Given the description of an element on the screen output the (x, y) to click on. 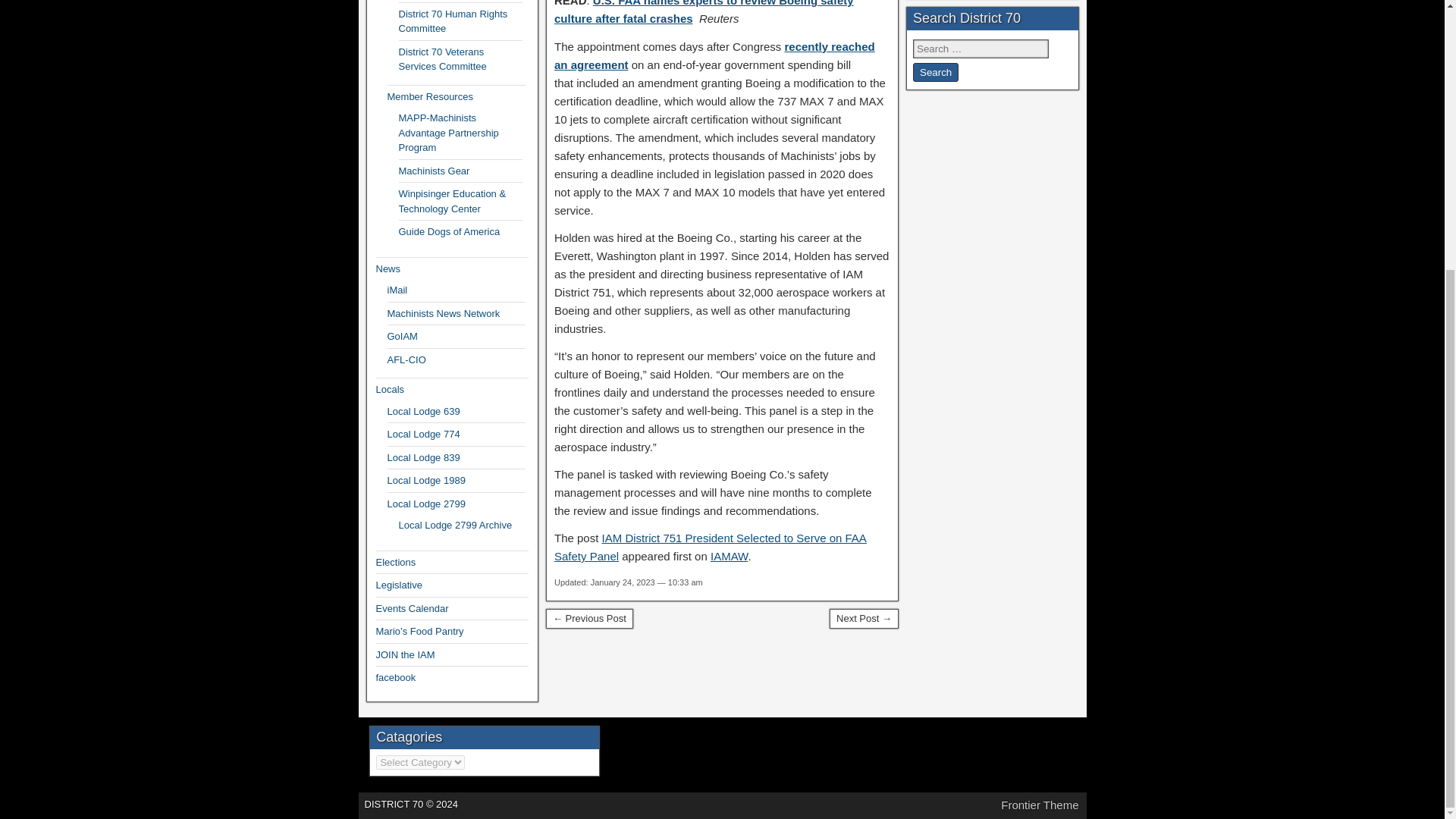
Search (935, 72)
Search (935, 72)
